Given the description of an element on the screen output the (x, y) to click on. 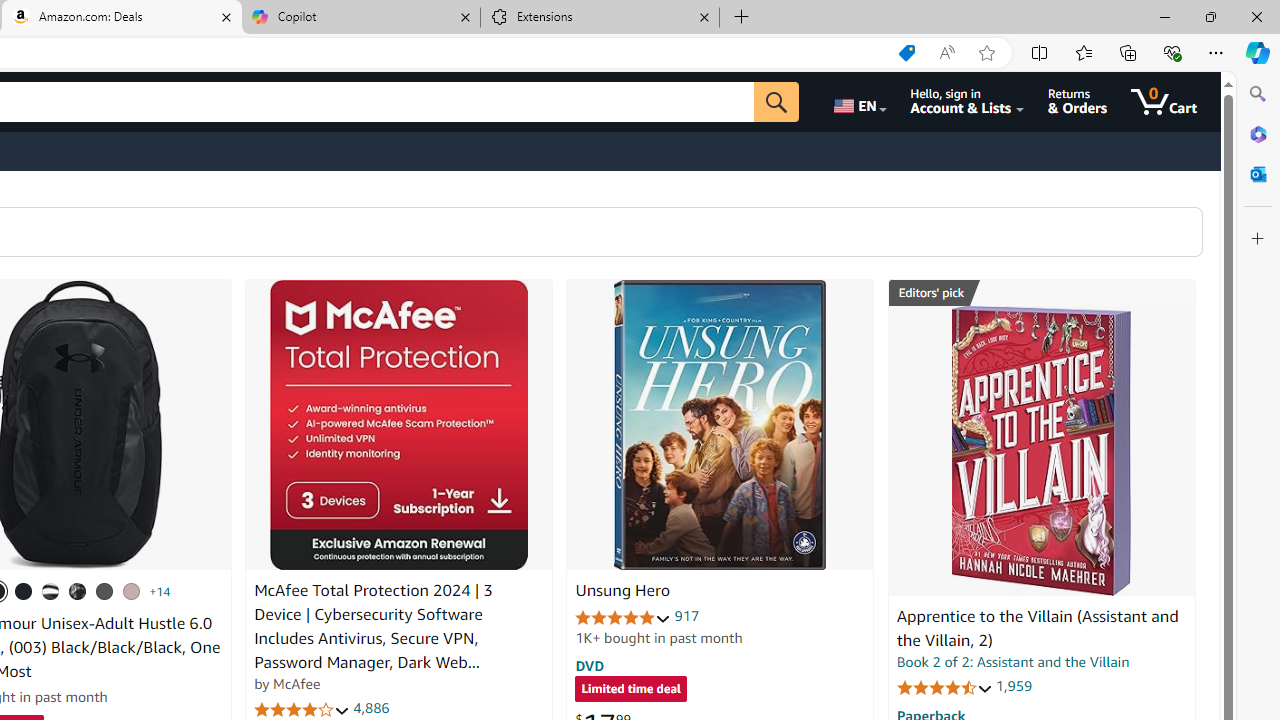
(002) Black / Black / White (51, 591)
